Given the description of an element on the screen output the (x, y) to click on. 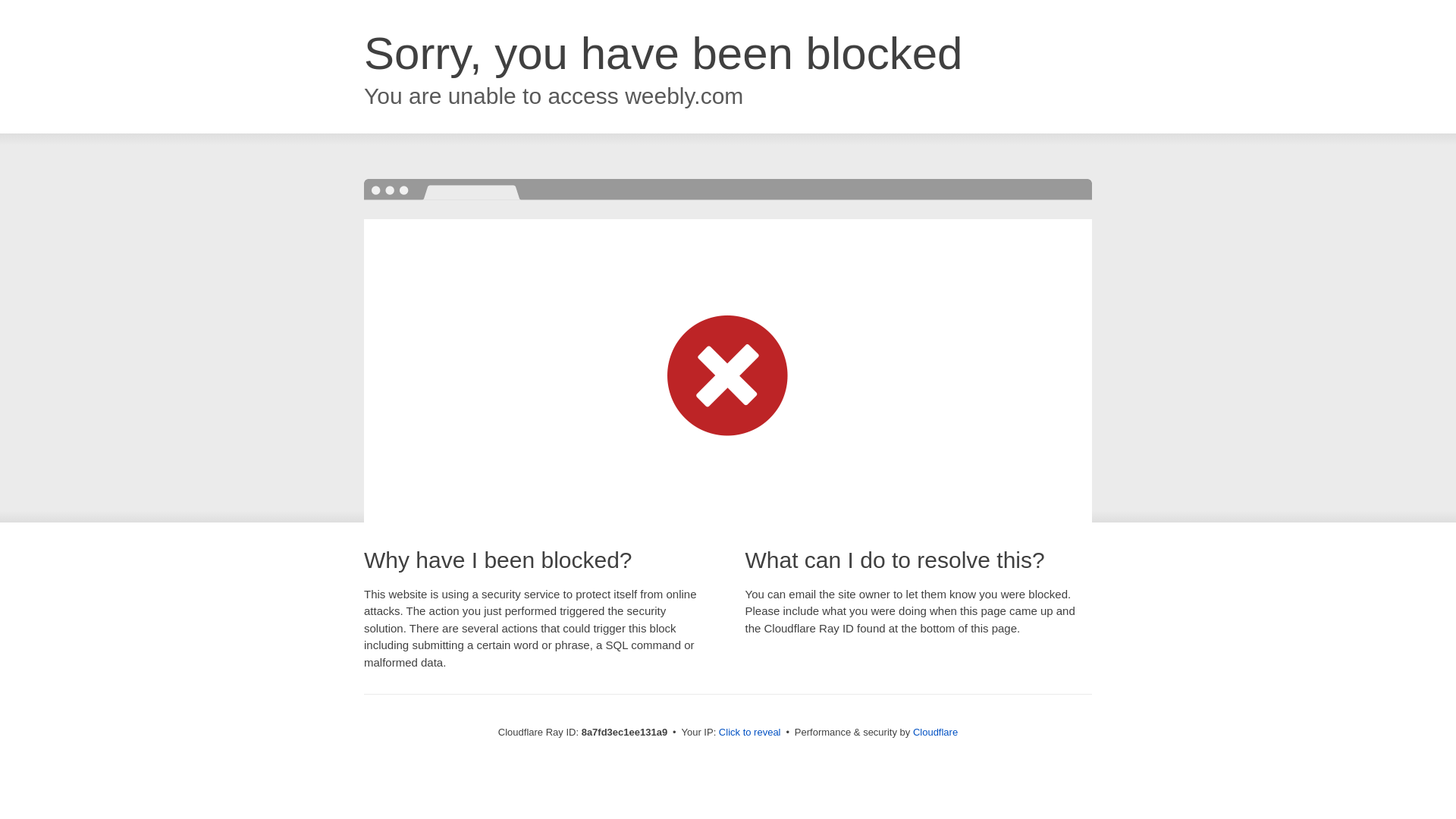
Cloudflare (935, 731)
Click to reveal (749, 732)
